Given the description of an element on the screen output the (x, y) to click on. 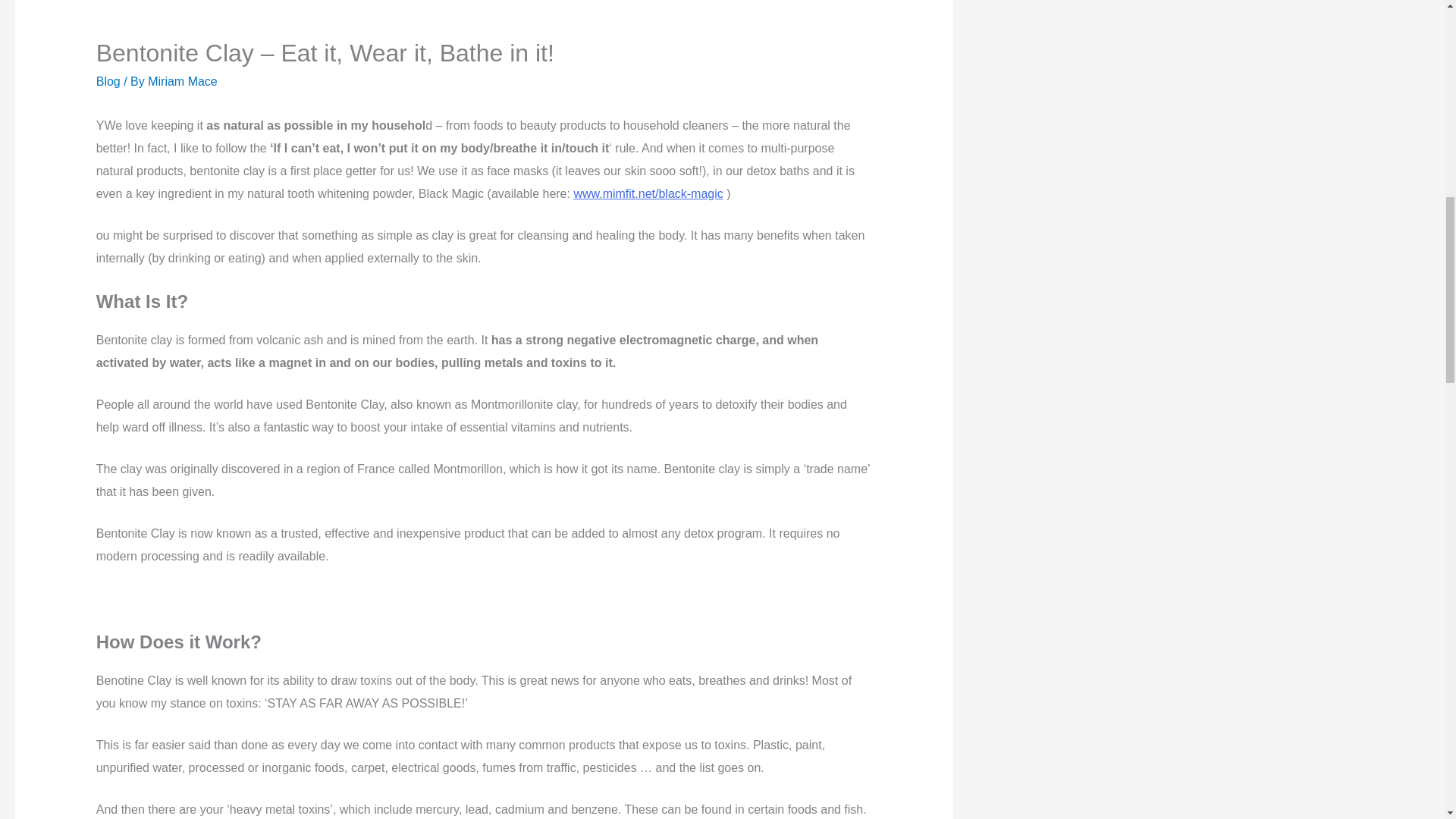
View all posts by Miriam Mace (182, 81)
Blog (108, 81)
Miriam Mace (182, 81)
